Given the description of an element on the screen output the (x, y) to click on. 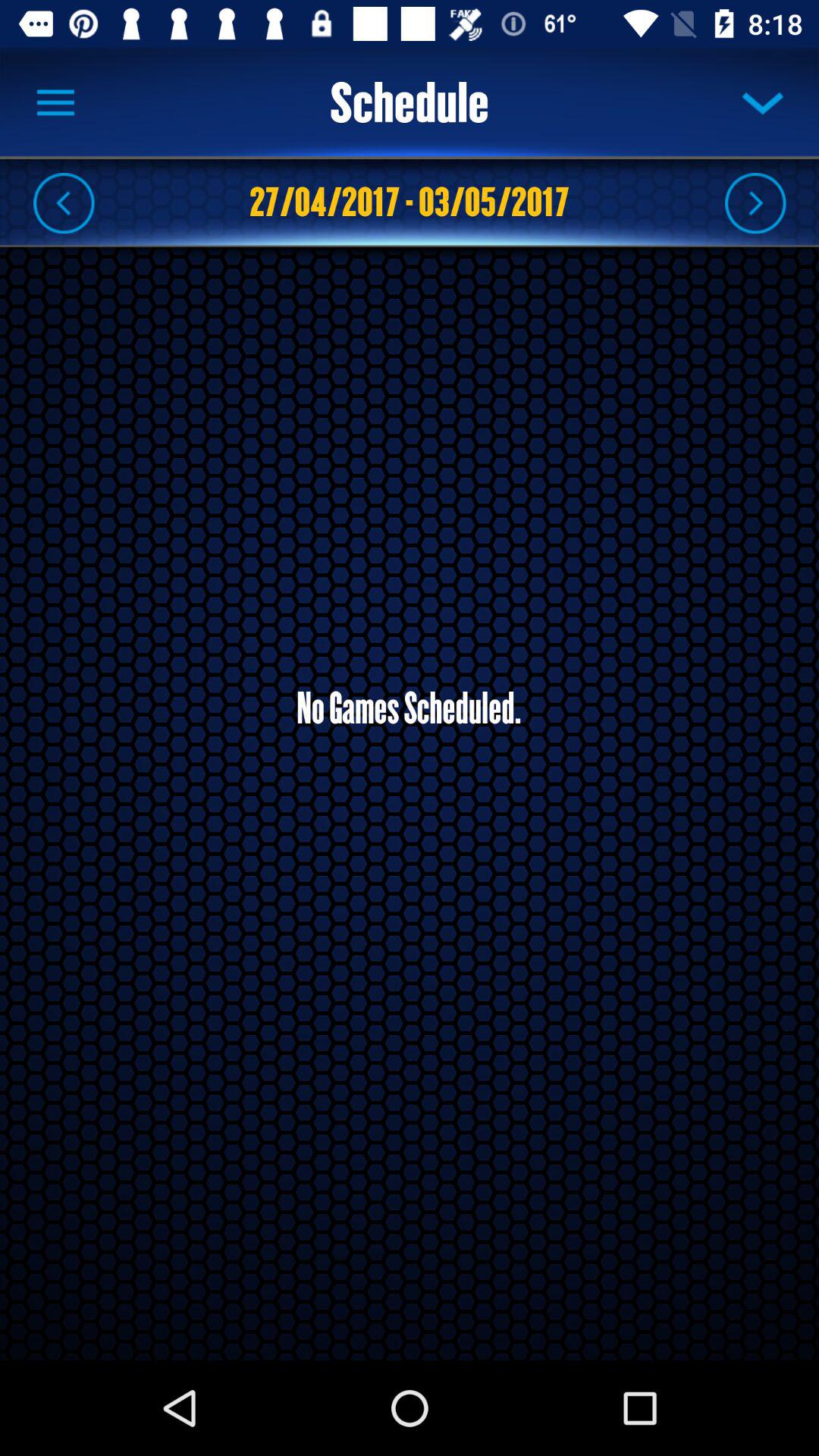
next (755, 202)
